Given the description of an element on the screen output the (x, y) to click on. 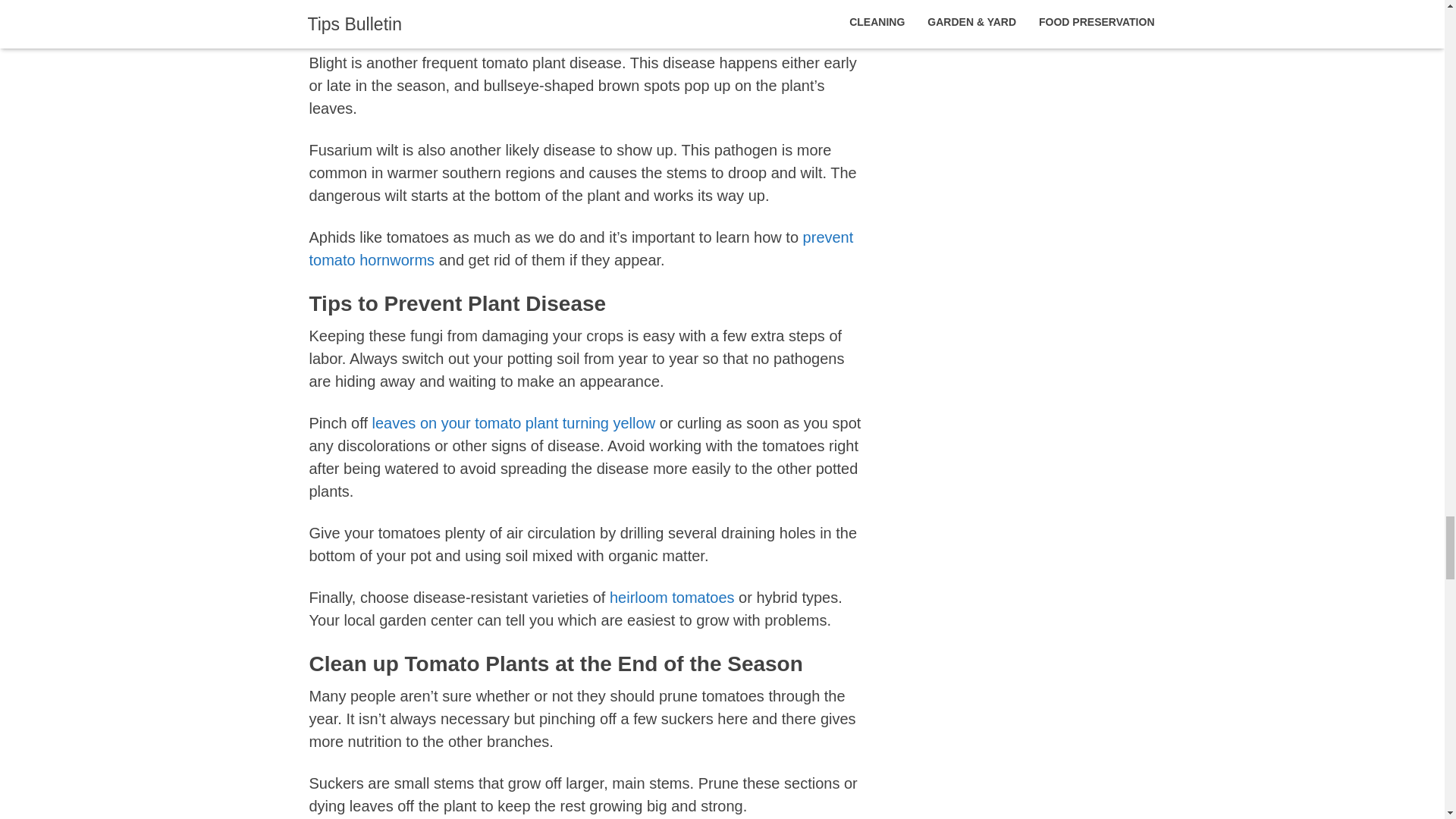
heirloom tomatoes (672, 597)
prevent tomato hornworms (580, 248)
leaves on your tomato plant turning yellow (514, 422)
